Given the description of an element on the screen output the (x, y) to click on. 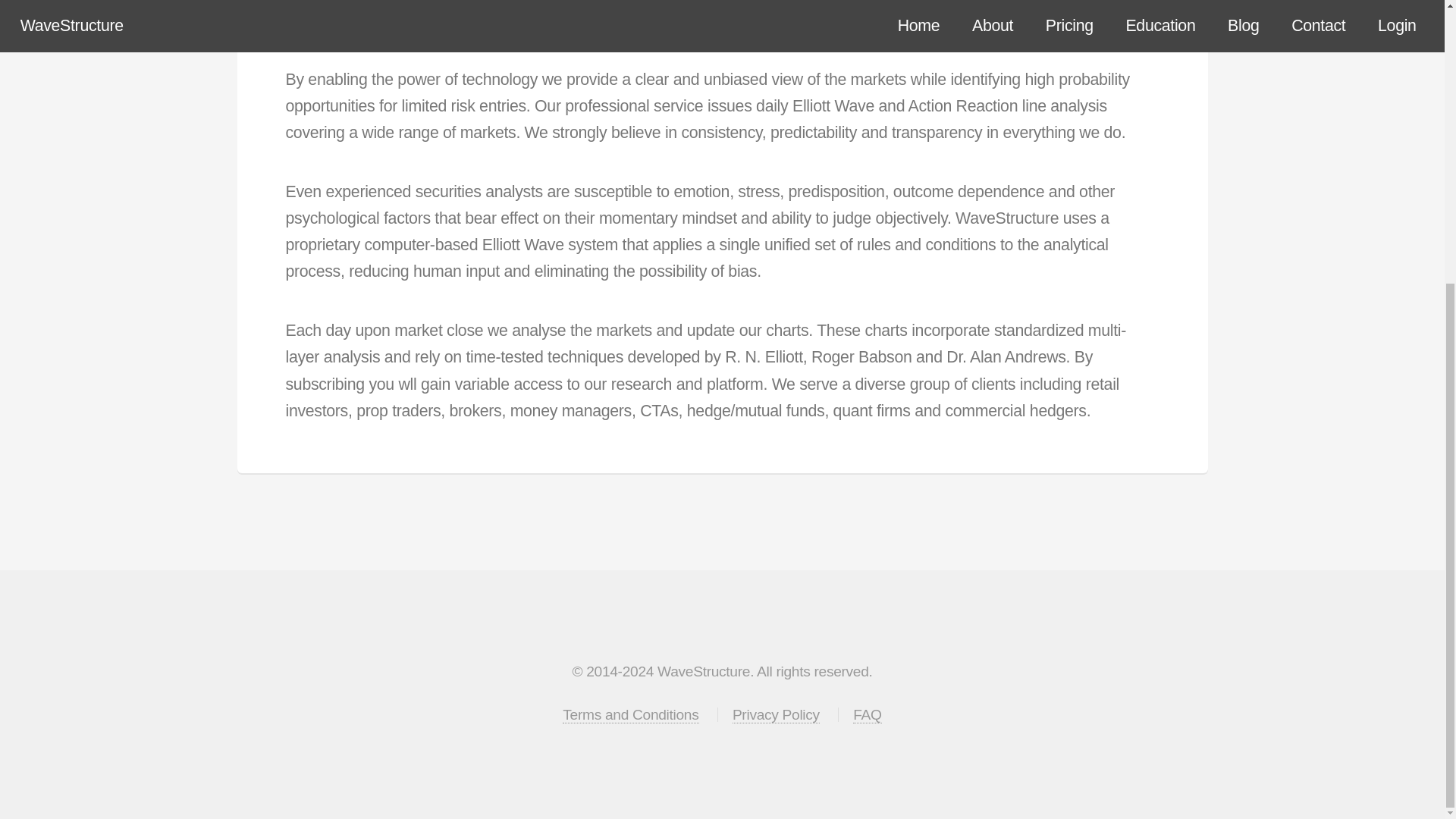
Terms and Conditions (630, 714)
Privacy Policy (775, 714)
FAQ (866, 714)
